Given the description of an element on the screen output the (x, y) to click on. 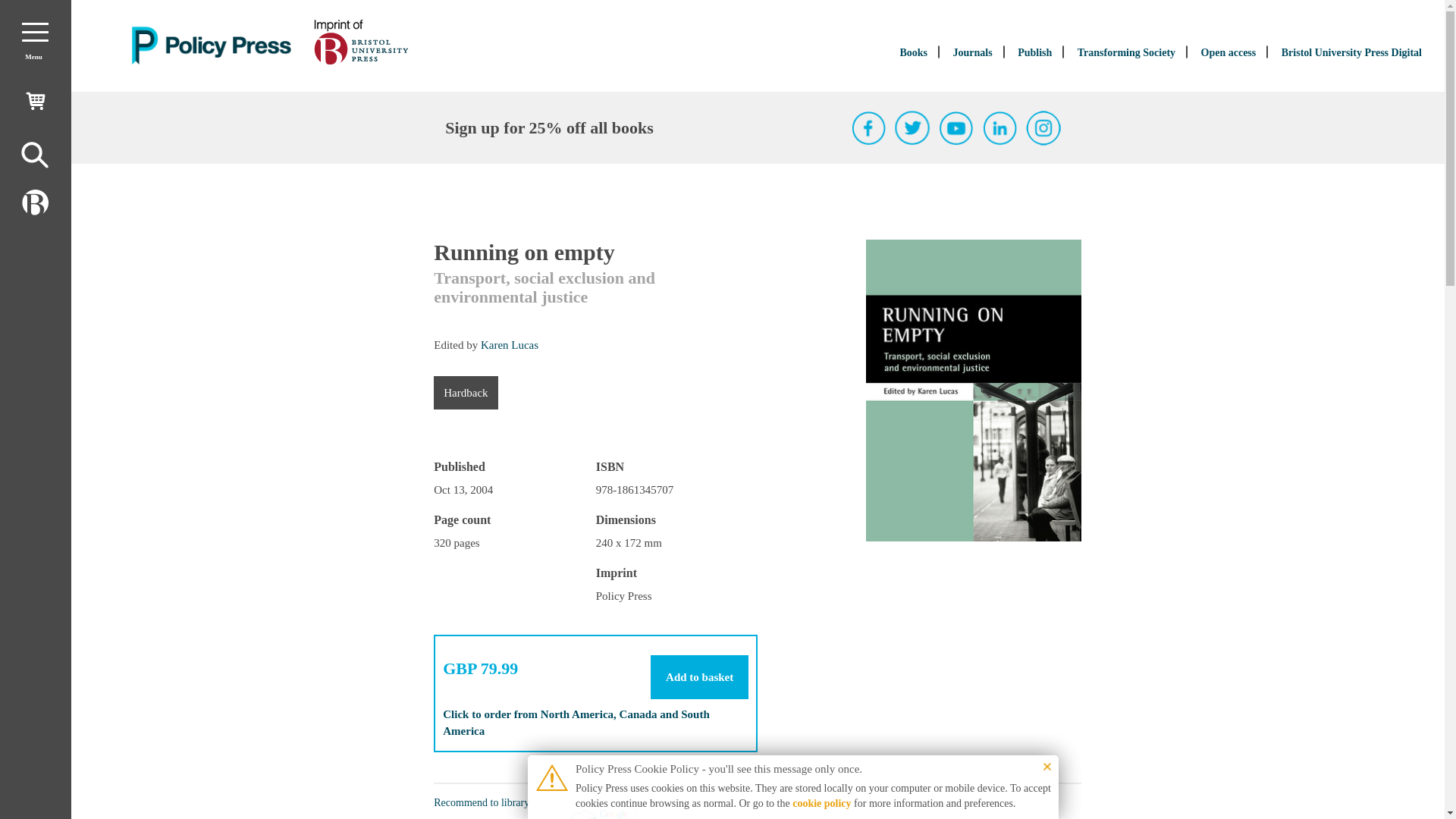
LinkedIn page (999, 127)
Instagram page (1043, 127)
Facebook page (868, 127)
Close (1047, 766)
Toggle navigation (34, 31)
Twitter page (912, 127)
YouTube page (956, 127)
